Given the description of an element on the screen output the (x, y) to click on. 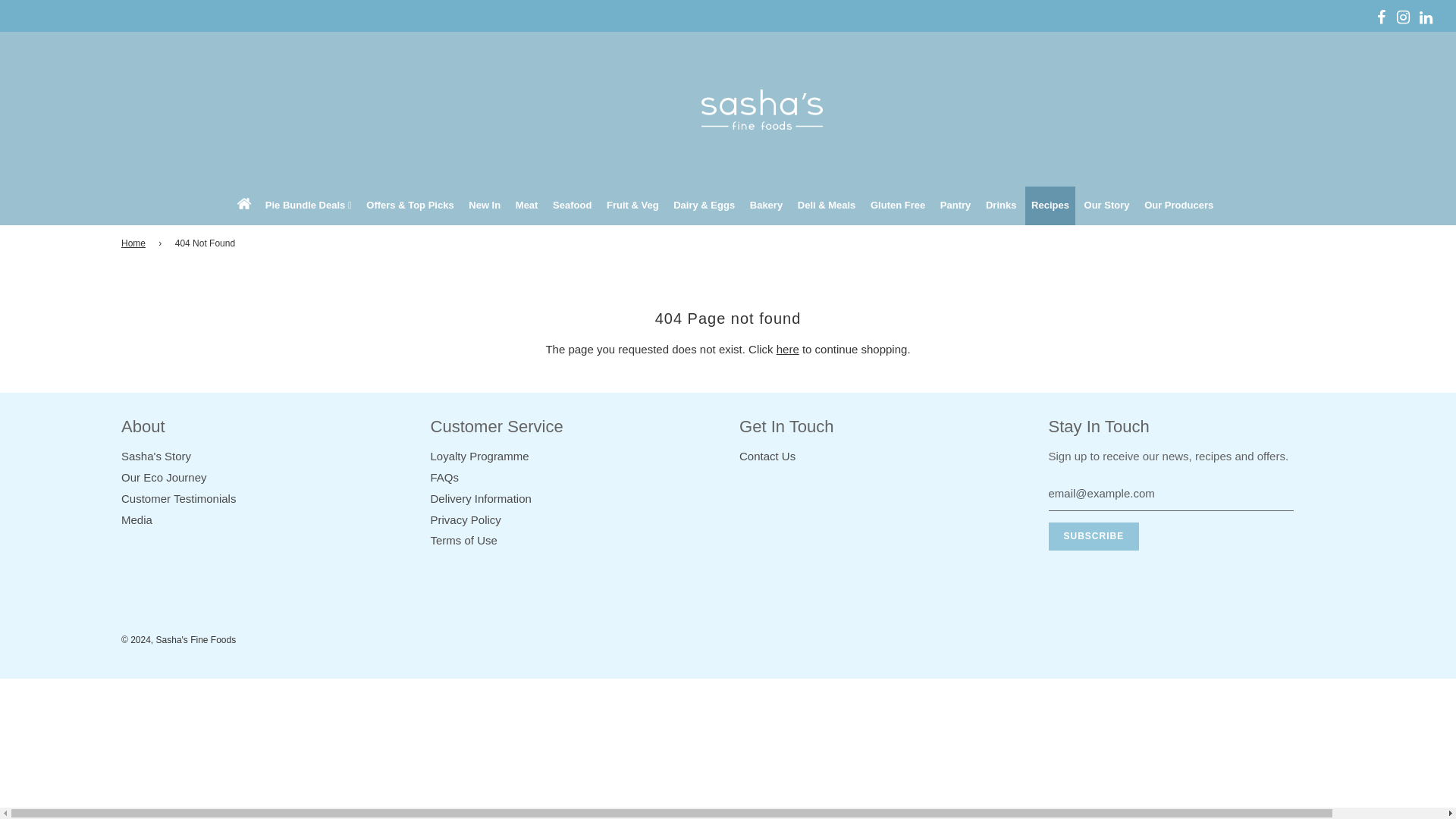
Subscribe (1093, 536)
Back to the frontpage (135, 243)
